Given the description of an element on the screen output the (x, y) to click on. 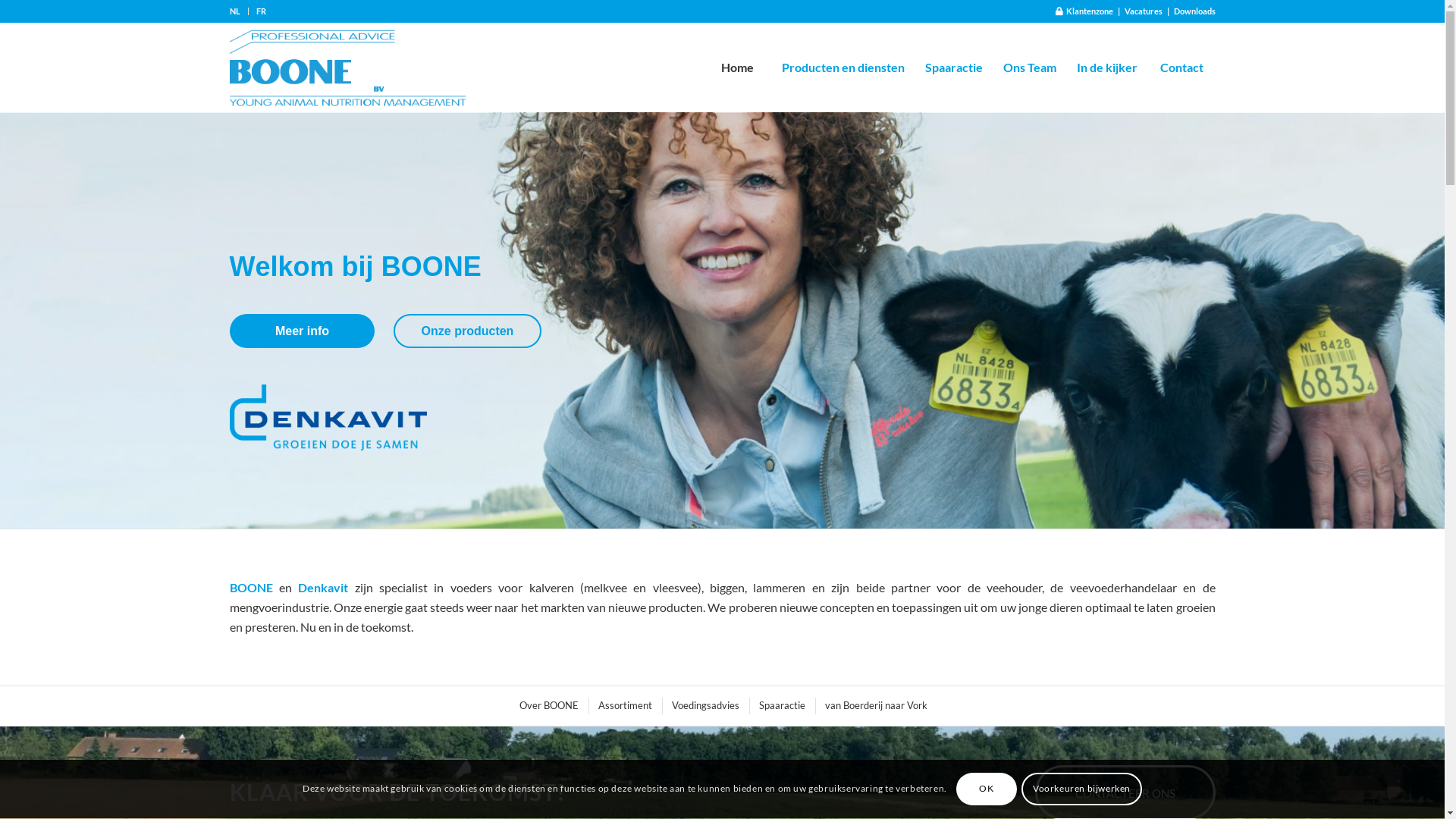
Spaaractie Element type: text (780, 705)
Over BOONE Element type: text (547, 705)
Vacatures Element type: text (1142, 10)
Contact Element type: text (1180, 67)
  Klantenzone Element type: text (1084, 10)
Ons Team Element type: text (1028, 67)
Assortiment Element type: text (623, 705)
FR Element type: text (261, 10)
Voorkeuren bijwerken Element type: text (1081, 789)
Downloads Element type: text (1194, 10)
NL Element type: text (234, 10)
Voedingsadvies Element type: text (703, 705)
In de kijker Element type: text (1106, 67)
Home Element type: text (736, 67)
Denkavit Element type: text (323, 587)
OK Element type: text (986, 789)
van Boerderij naar Vork Element type: text (874, 705)
Producten en diensten Element type: text (841, 67)
Spaaractie Element type: text (953, 67)
